Given the description of an element on the screen output the (x, y) to click on. 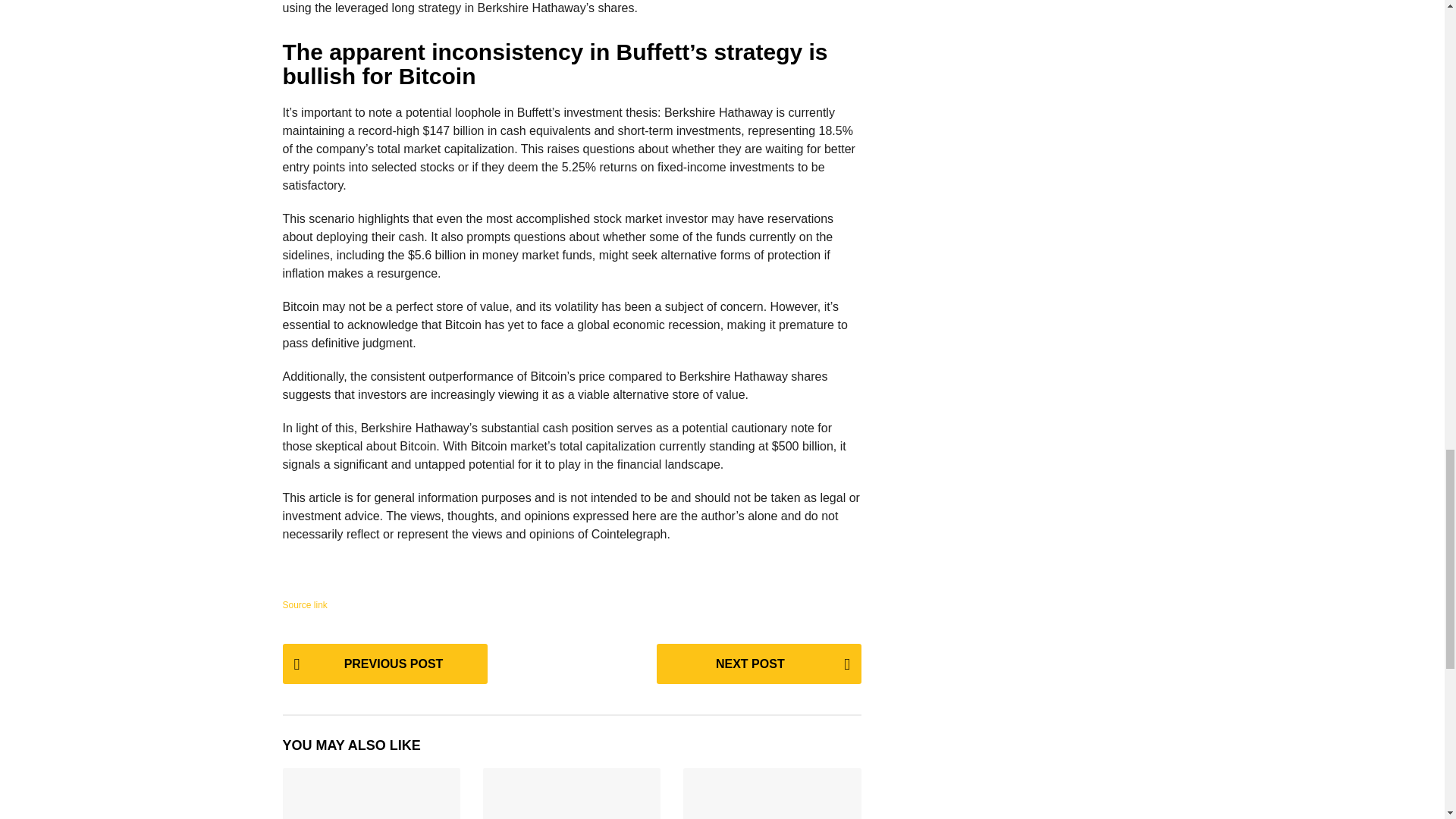
Is Nigeria Strong-Arming Binance? (371, 793)
NEXT POST (758, 663)
PREVIOUS POST (384, 663)
Source link (304, 604)
